Given the description of an element on the screen output the (x, y) to click on. 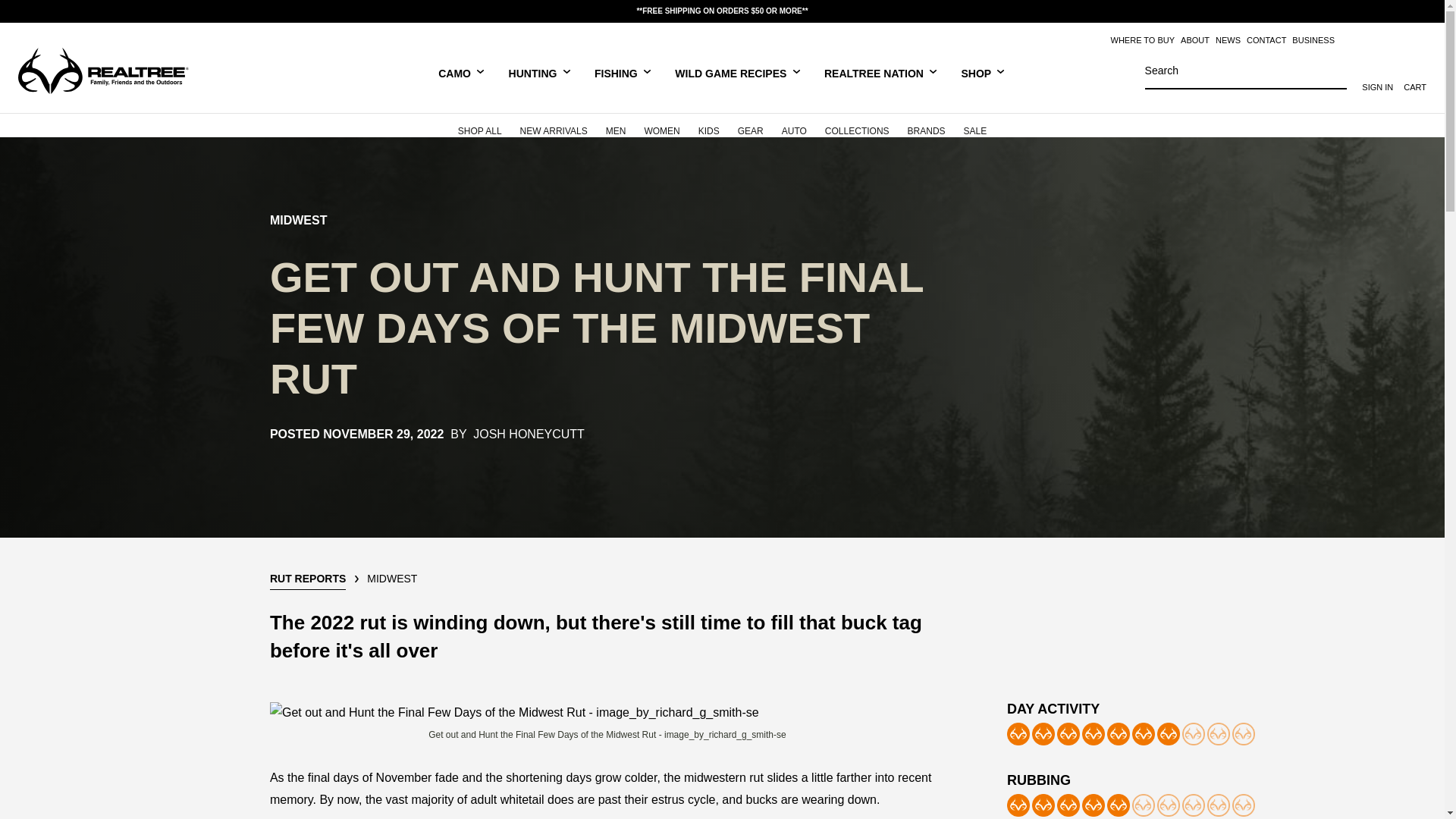
CAMO (461, 72)
Close promo bar (1424, 10)
CONTACT (1265, 40)
BUSINESS (1313, 40)
NEWS (1227, 40)
Close (1424, 10)
ABOUT (1194, 40)
HUNTING (540, 72)
WHERE TO BUY (1142, 40)
